Given the description of an element on the screen output the (x, y) to click on. 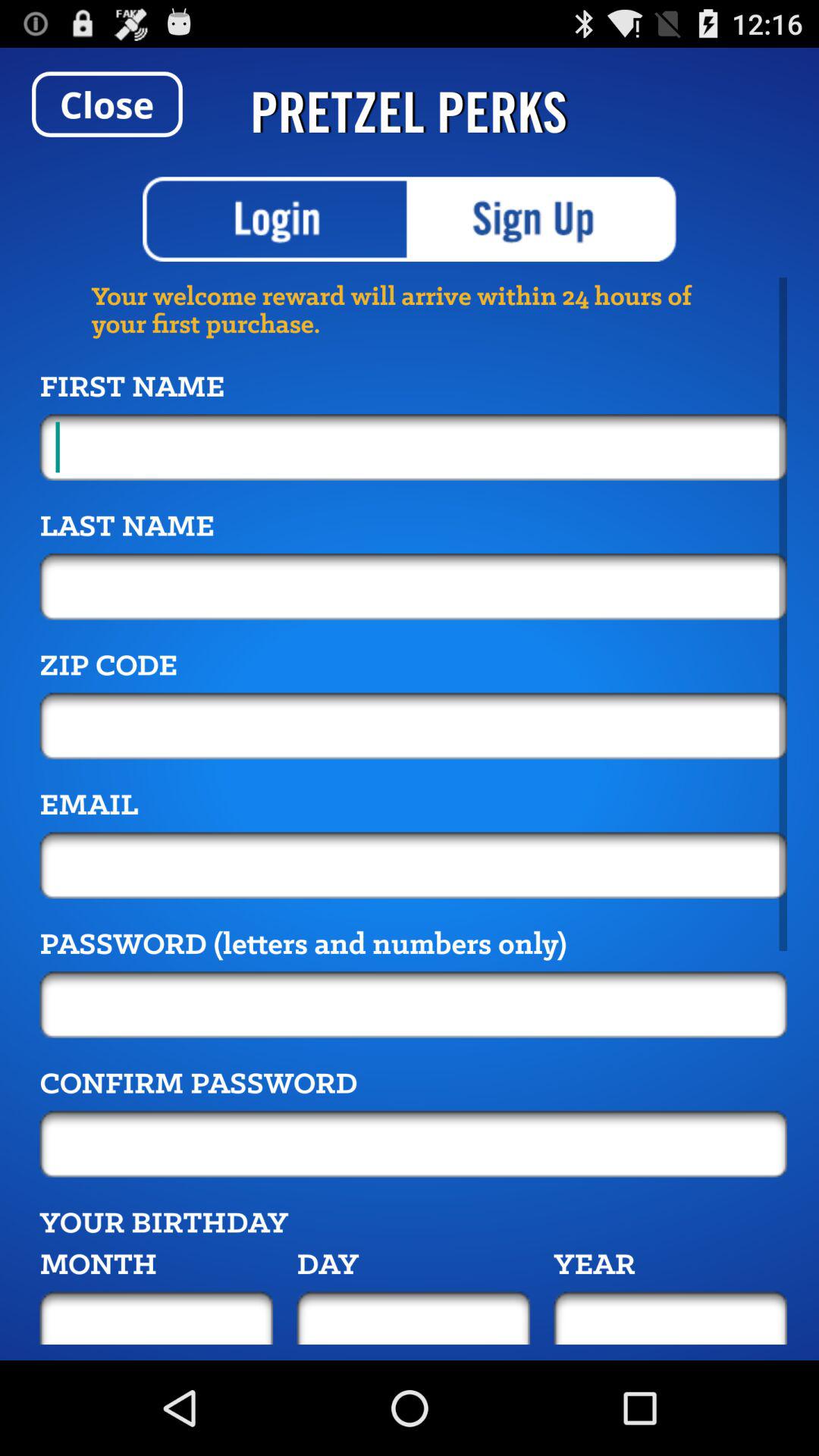
enter password (413, 1004)
